Given the description of an element on the screen output the (x, y) to click on. 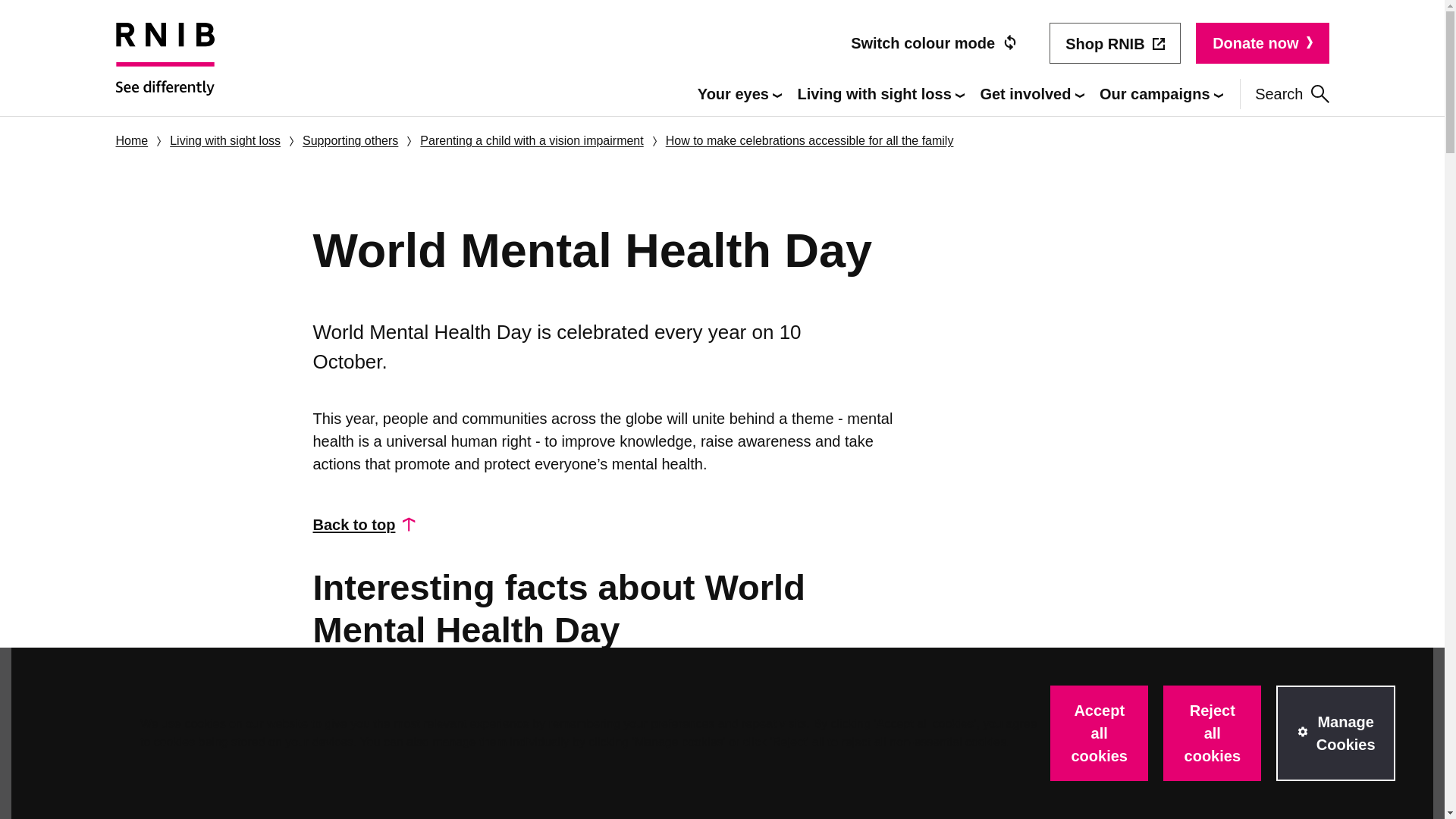
Donate now (1261, 42)
Switch colour mode (933, 42)
Accept all cookies (1098, 733)
Reject all cookies (1211, 733)
Shop RNIB (1114, 42)
Manage Cookies (1335, 733)
